Given the description of an element on the screen output the (x, y) to click on. 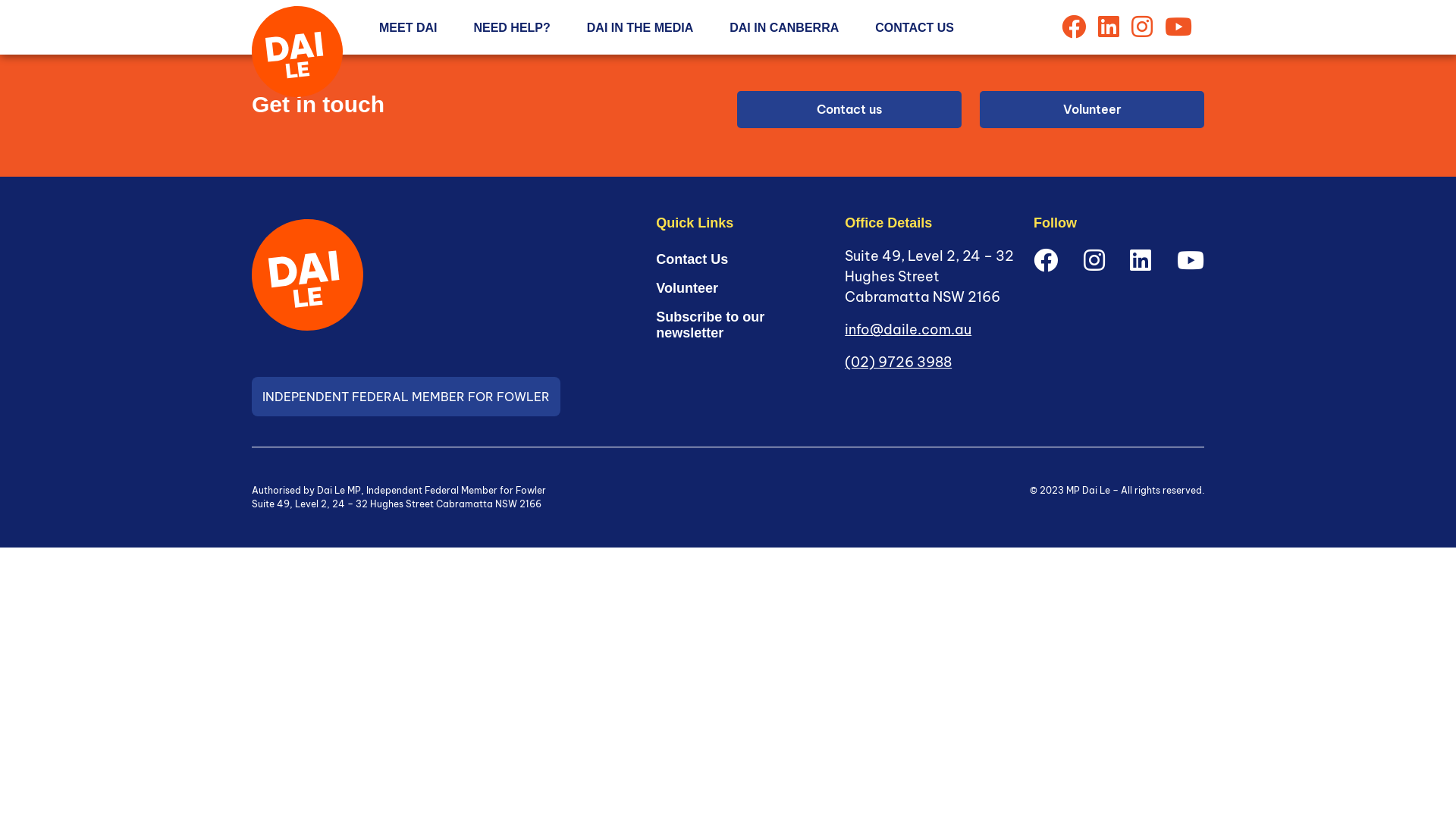
Dai Le Element type: hover (307, 274)
Dai Le Youtube Element type: hover (1178, 26)
Subscribe to our newsletter Element type: text (737, 325)
info@daile.com.au Element type: text (907, 329)
Dai Le LinkedIn Element type: hover (1140, 259)
CONTACT US Element type: text (914, 26)
Dai Le LinkedIn Element type: hover (1108, 26)
NEED HELP? Element type: text (511, 26)
Dai Le Instagram Element type: hover (1141, 26)
Volunteer Element type: text (1091, 109)
Dai Le Element type: hover (296, 51)
Dai Le Facebook Element type: hover (1073, 26)
Dai Le Youtube Element type: hover (1190, 259)
Volunteer Element type: text (686, 288)
DAI IN THE MEDIA Element type: text (639, 26)
DAI IN CANBERRA Element type: text (783, 26)
MEET DAI Element type: text (407, 26)
Dai Le Facebook Element type: hover (1045, 259)
Contact Us Element type: text (691, 259)
(02) 9726 3988 Element type: text (897, 361)
Contact us Element type: text (849, 109)
Dai Le Instagram Element type: hover (1093, 259)
